Given the description of an element on the screen output the (x, y) to click on. 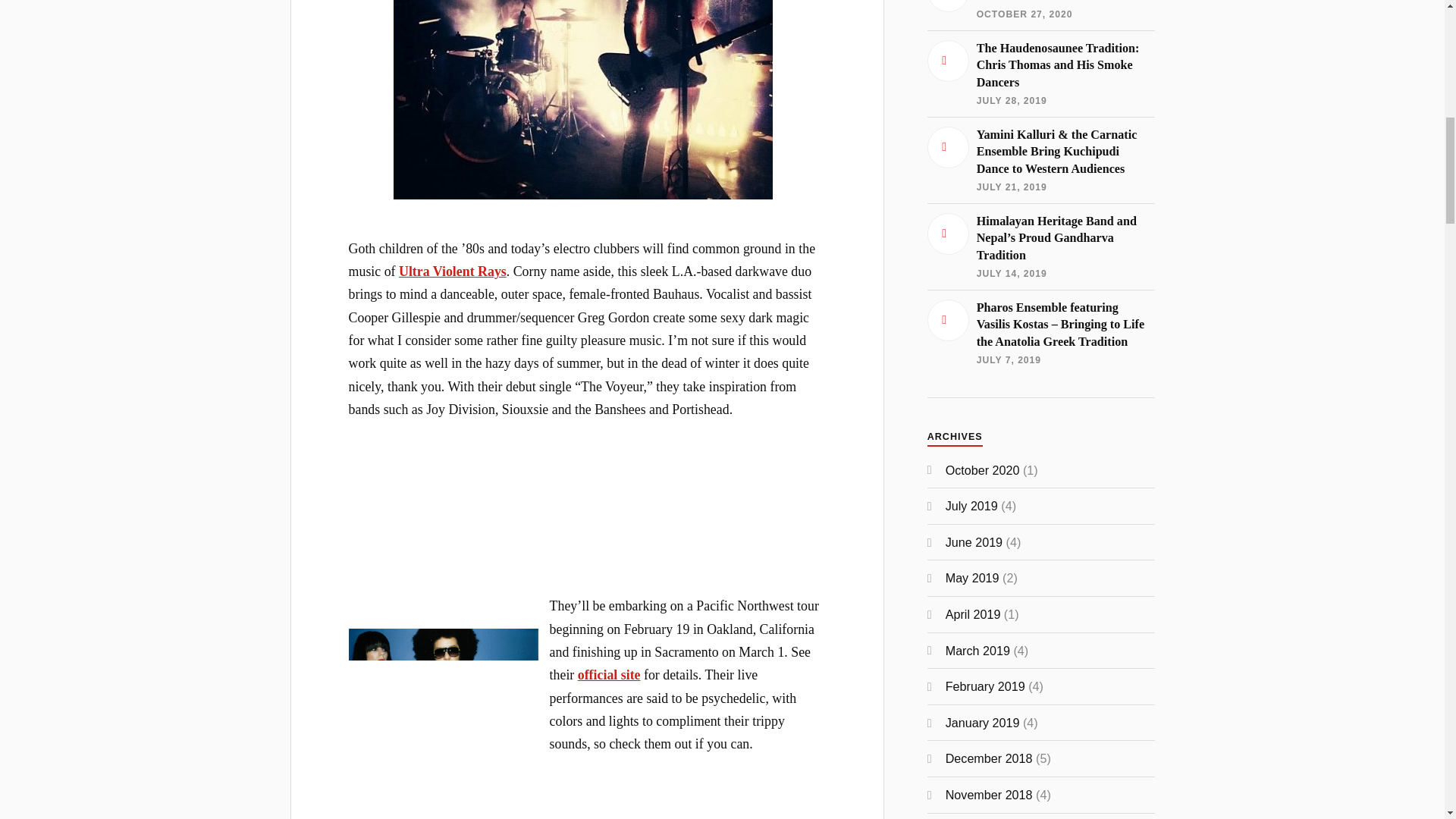
UltraViolentRays-250 (443, 687)
official site (609, 674)
Ultra Violent Rays (452, 271)
